Given the description of an element on the screen output the (x, y) to click on. 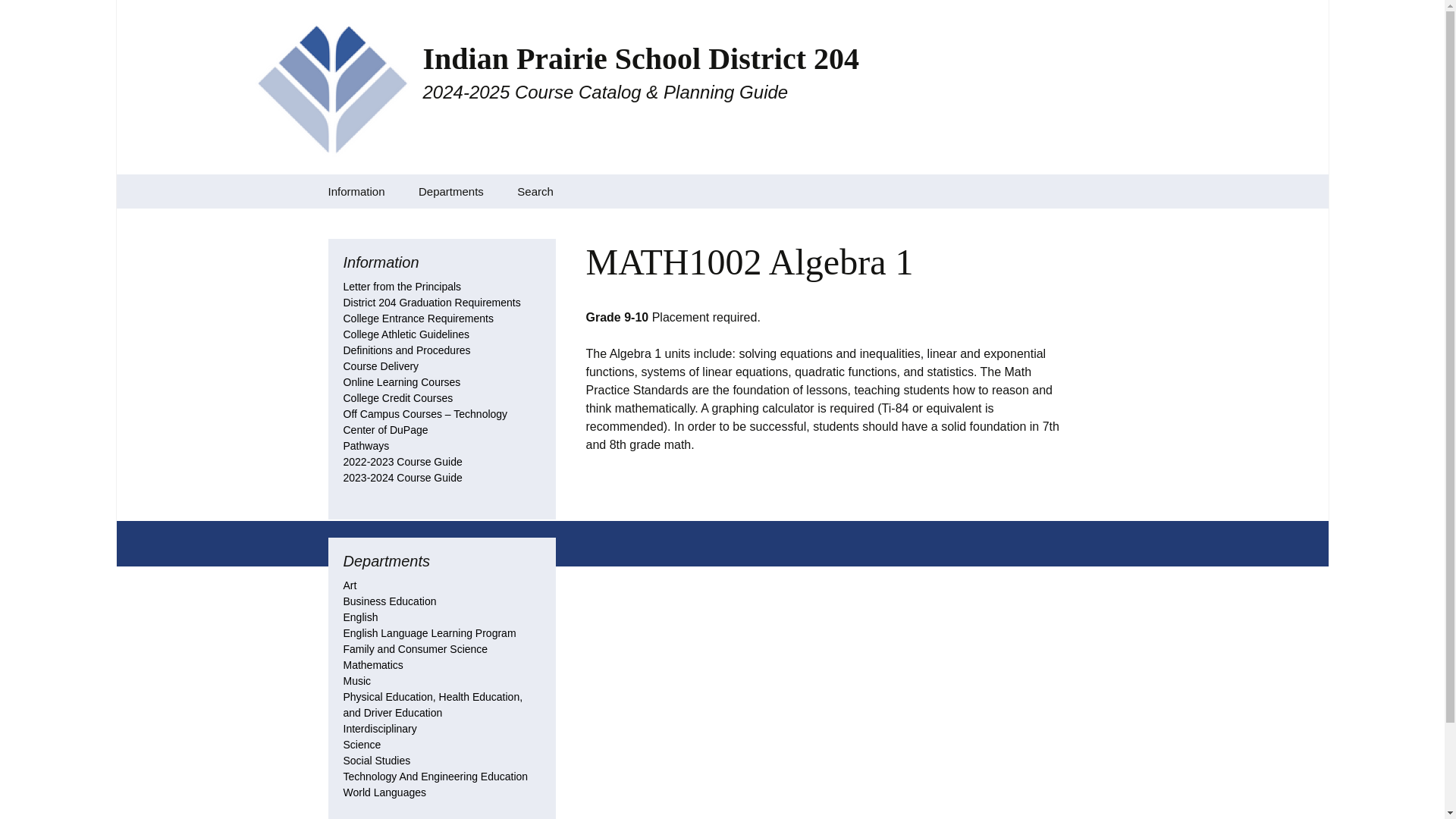
Pathways (365, 445)
District 204 Graduation Requirements (430, 302)
College Athletic Guidelines (405, 334)
Search (535, 191)
Course Delivery (380, 366)
Departments (451, 191)
Information (355, 191)
2022-2023 Course Guide (401, 461)
